Given the description of an element on the screen output the (x, y) to click on. 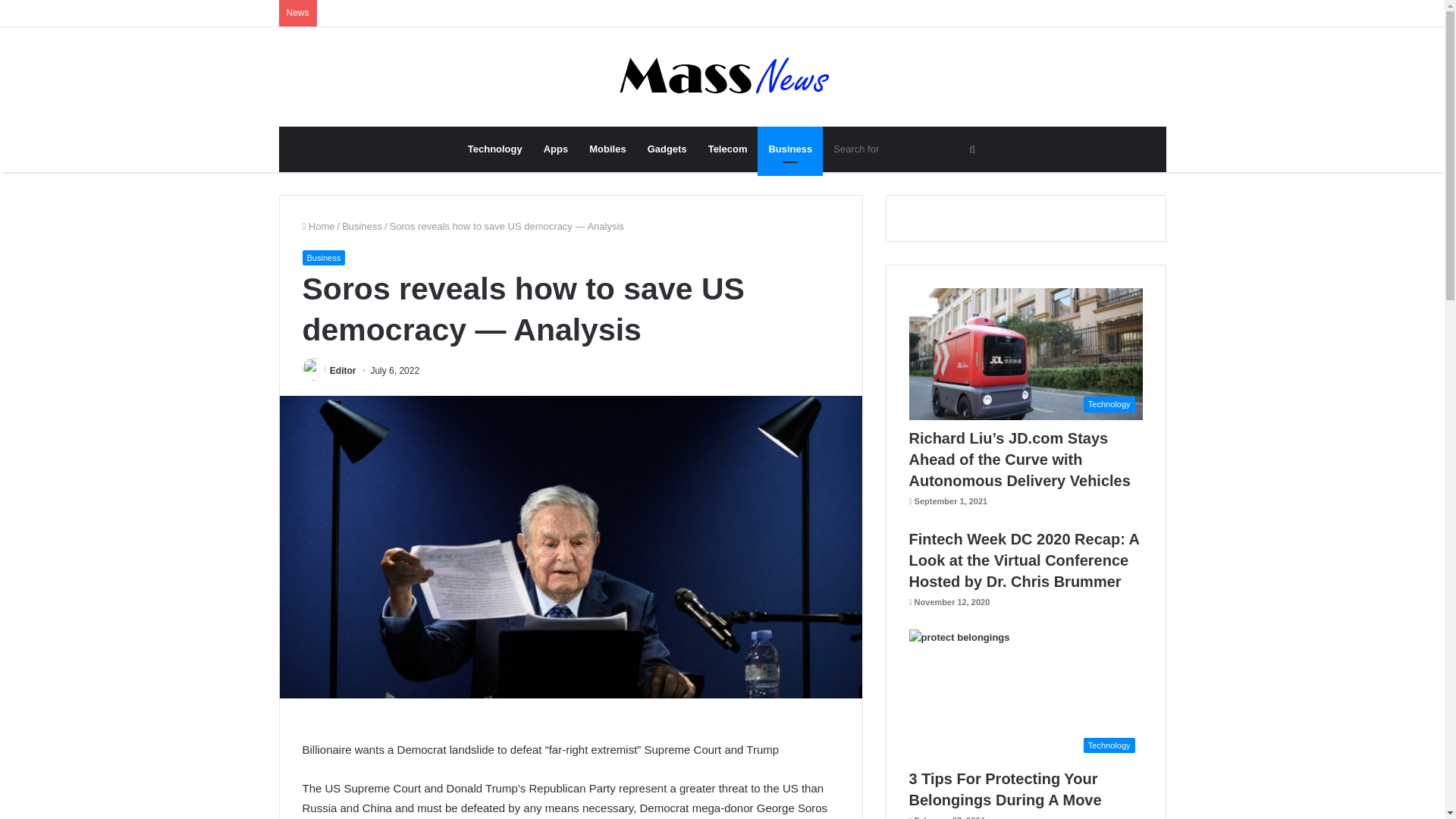
Business (361, 225)
Home (317, 225)
Mobiles (607, 148)
Technology (494, 148)
Mass News (721, 76)
Editor (343, 370)
Search for (905, 148)
Apps (555, 148)
Business (789, 148)
Business (323, 257)
